Given the description of an element on the screen output the (x, y) to click on. 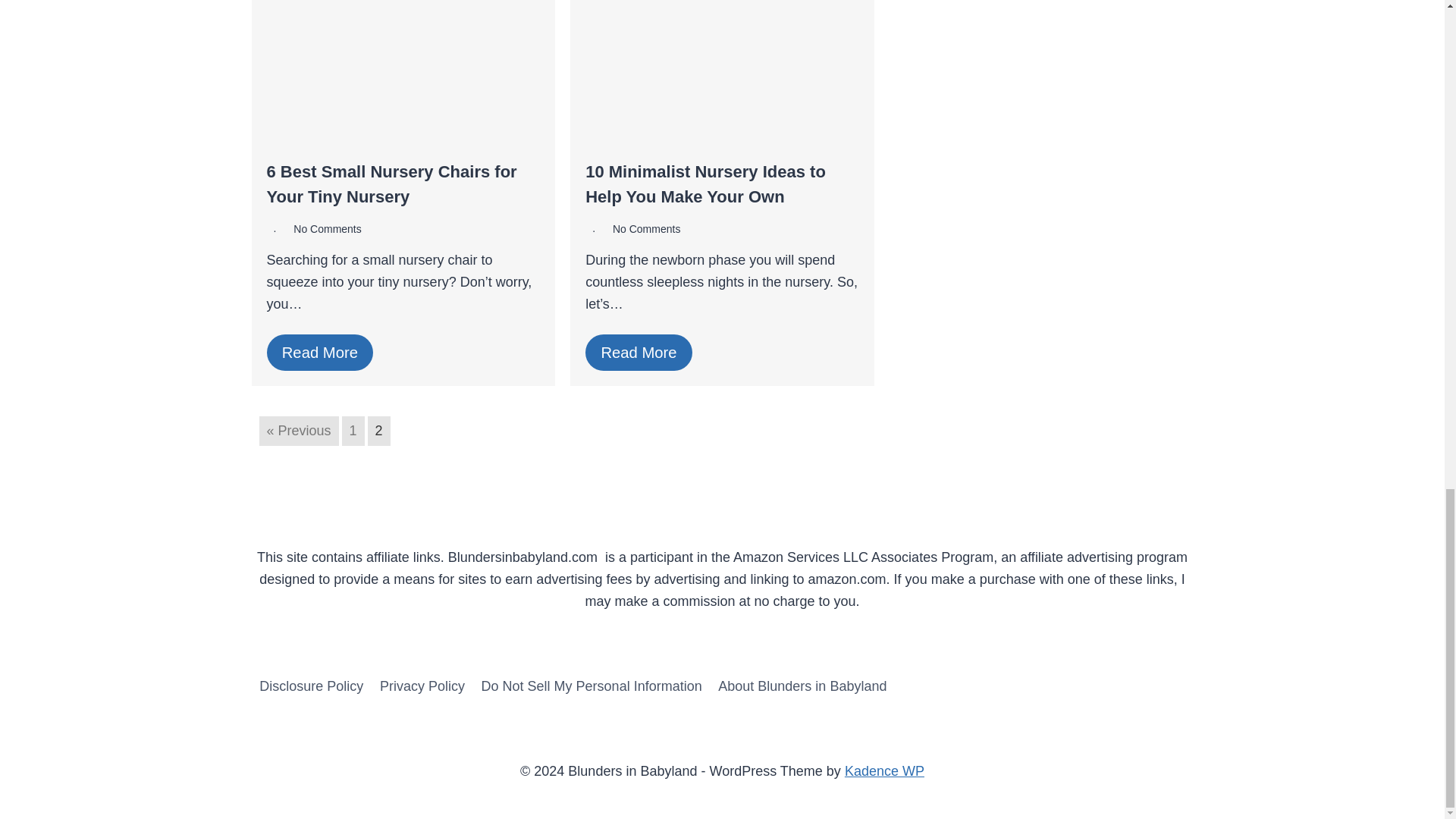
Kadence WP (884, 770)
Read More (639, 352)
Do Not Sell My Personal Information (591, 686)
10 Minimalist Nursery Ideas to Help You Make Your Own (705, 184)
Disclosure Policy (311, 686)
6 Best Small Nursery Chairs for Your Tiny Nursery (391, 184)
1 (353, 430)
Privacy Policy (422, 686)
About Blunders in Babyland (802, 686)
Read More (320, 352)
